Given the description of an element on the screen output the (x, y) to click on. 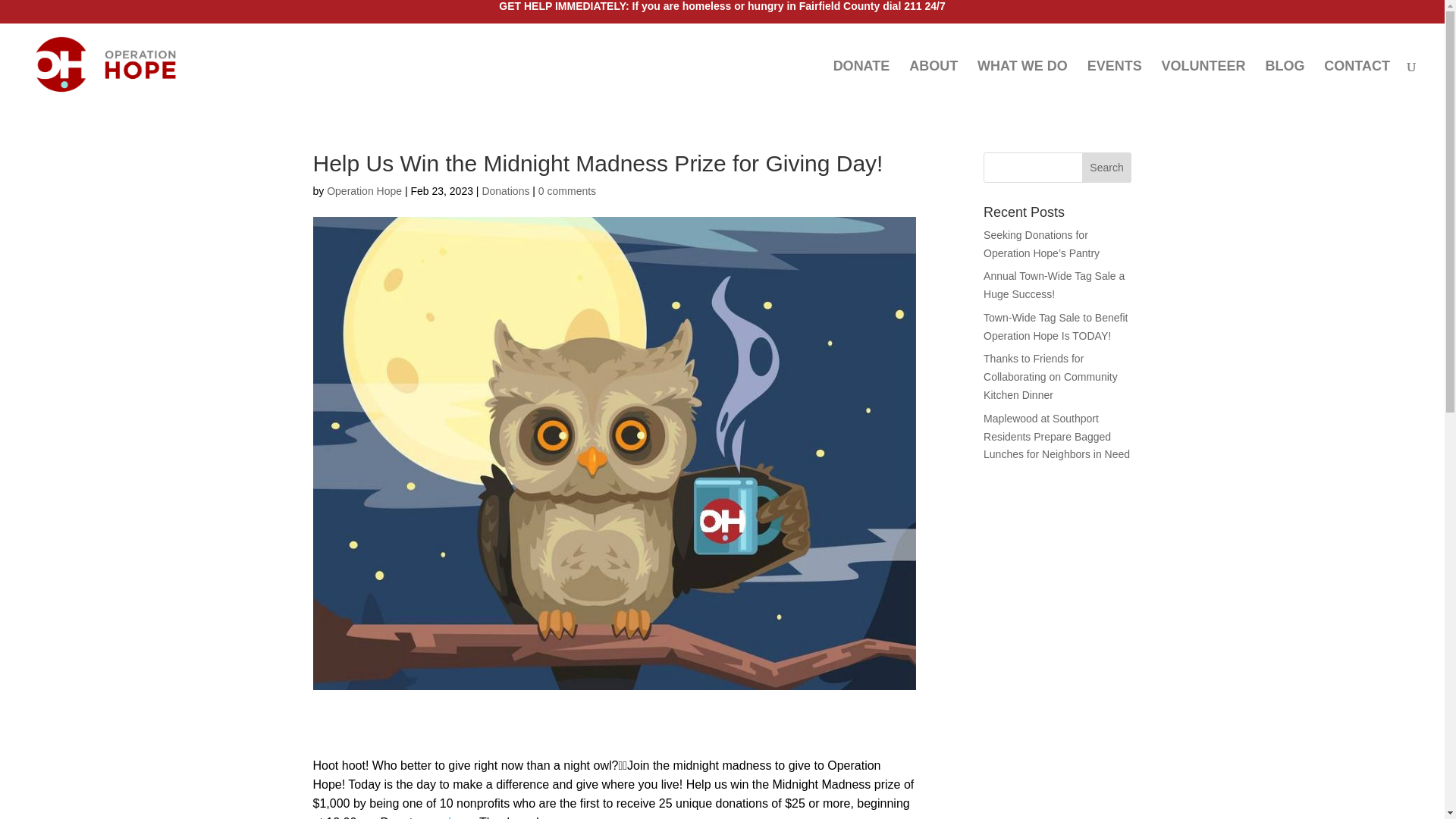
Search (1106, 167)
Annual Town-Wide Tag Sale a Huge Success! (1054, 285)
EVENTS (1114, 84)
Donations (505, 191)
WHAT WE DO (1021, 84)
here (459, 817)
VOLUNTEER (1203, 84)
CONTACT (1356, 84)
Town-Wide Tag Sale to Benefit Operation Hope Is TODAY! (1055, 327)
